Given the description of an element on the screen output the (x, y) to click on. 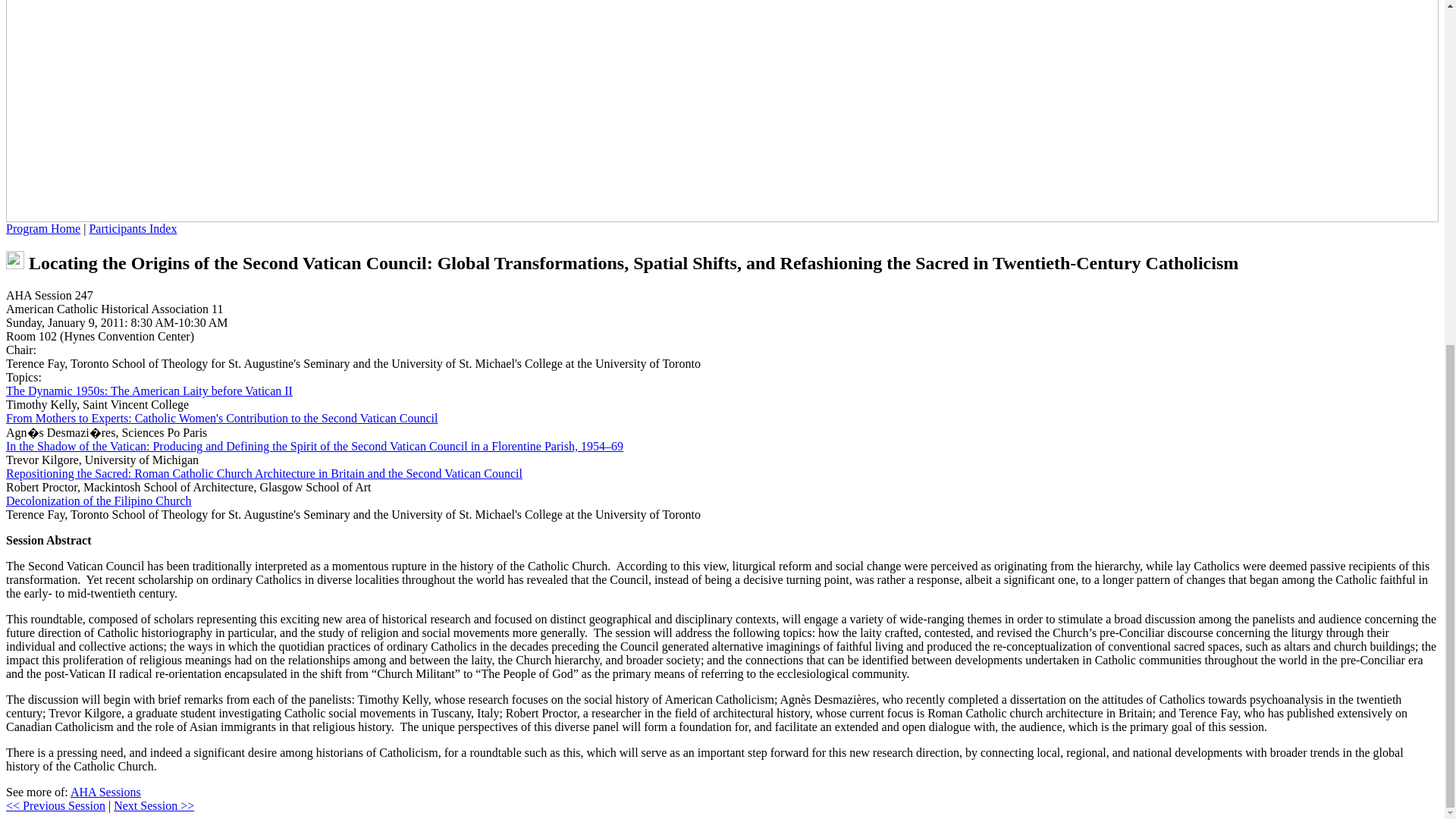
AHA Sessions (105, 791)
Participants Index (132, 228)
The Dynamic 1950s: The American Laity before Vatican II (148, 390)
Program Home (42, 228)
Decolonization of the Filipino Church (97, 500)
Roundtable (14, 259)
